Given the description of an element on the screen output the (x, y) to click on. 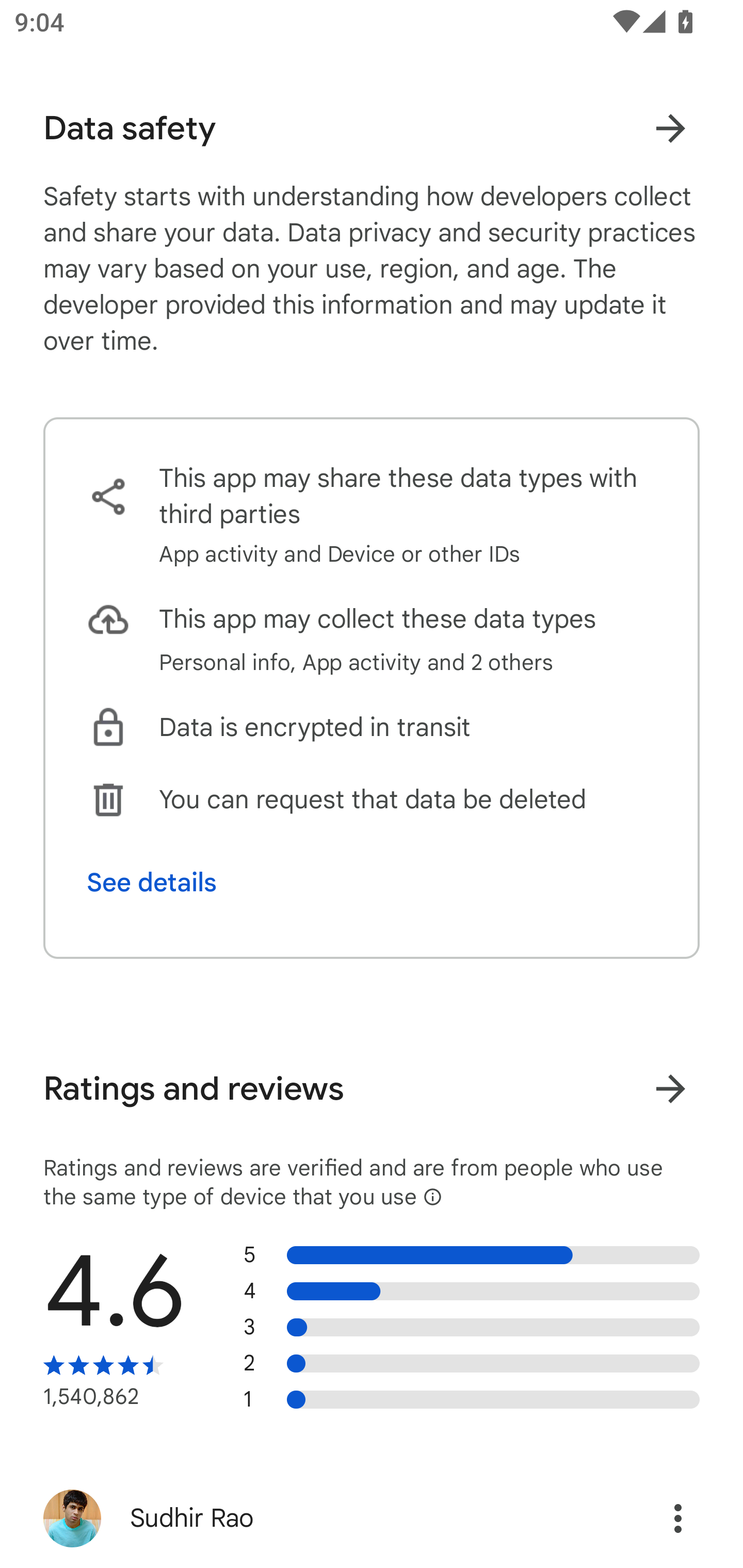
Data safety Learn more about data safety (371, 128)
Learn more about data safety (670, 128)
See details (151, 883)
Ratings and reviews View all ratings and reviews (371, 1088)
View all ratings and reviews (670, 1088)
Options (655, 1518)
